Given the description of an element on the screen output the (x, y) to click on. 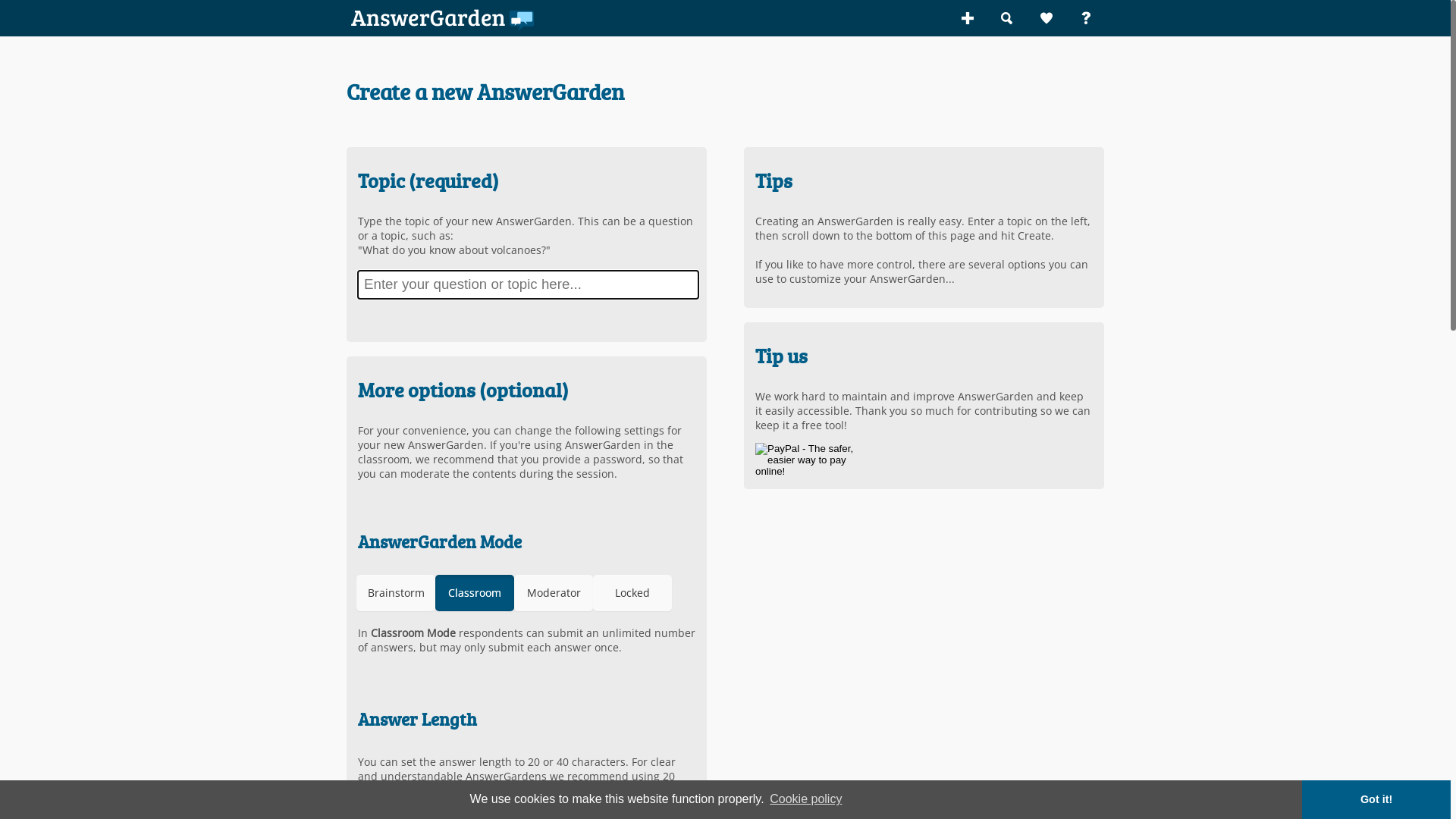
Create an AnswerGarden Element type: hover (967, 18)
AnswerGarden Home Element type: hover (446, 18)
Cookie policy Element type: text (805, 798)
Advertisement Element type: hover (870, 609)
